Given the description of an element on the screen output the (x, y) to click on. 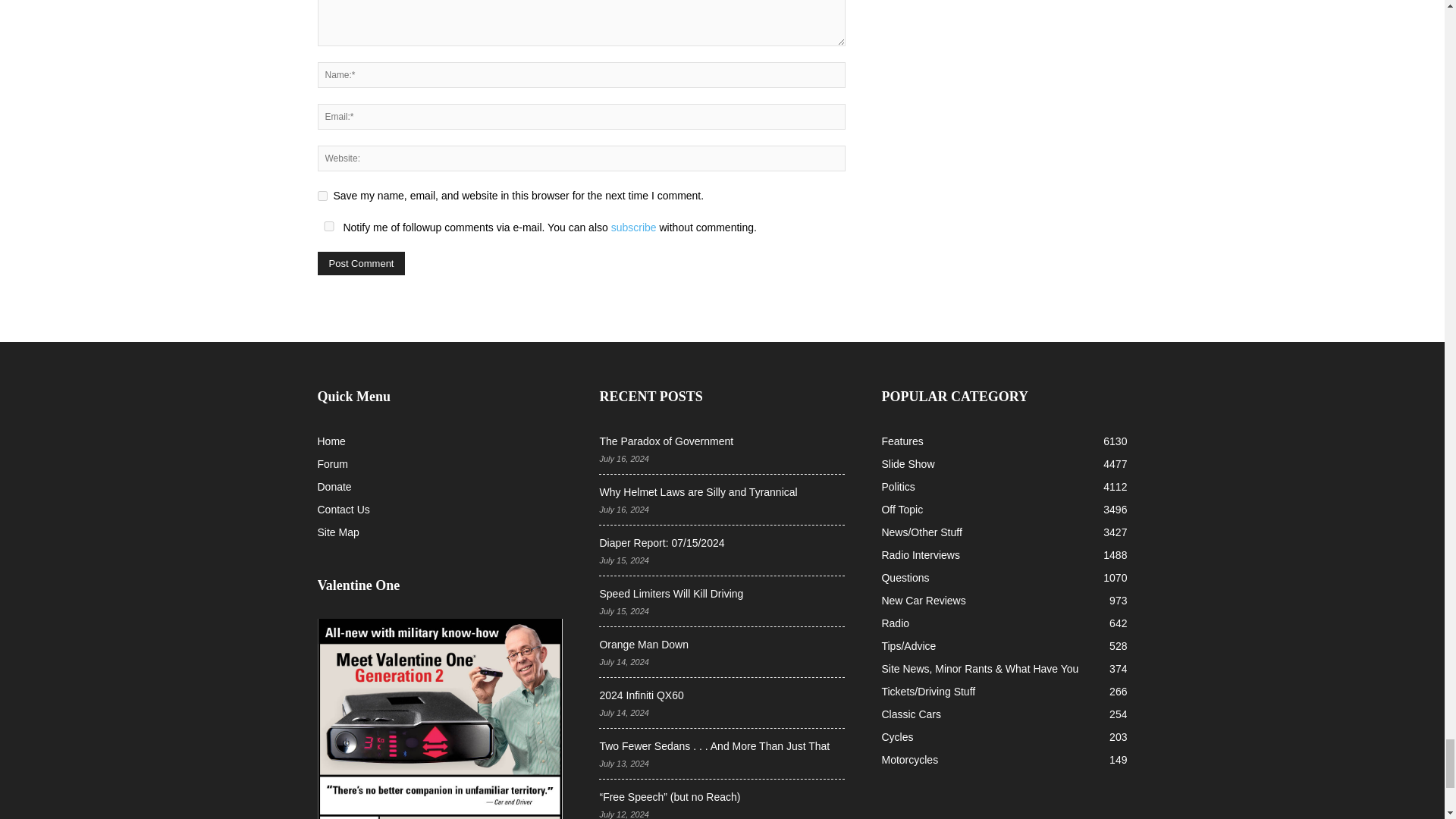
yes (321, 195)
Post Comment (360, 263)
yes (328, 225)
